Given the description of an element on the screen output the (x, y) to click on. 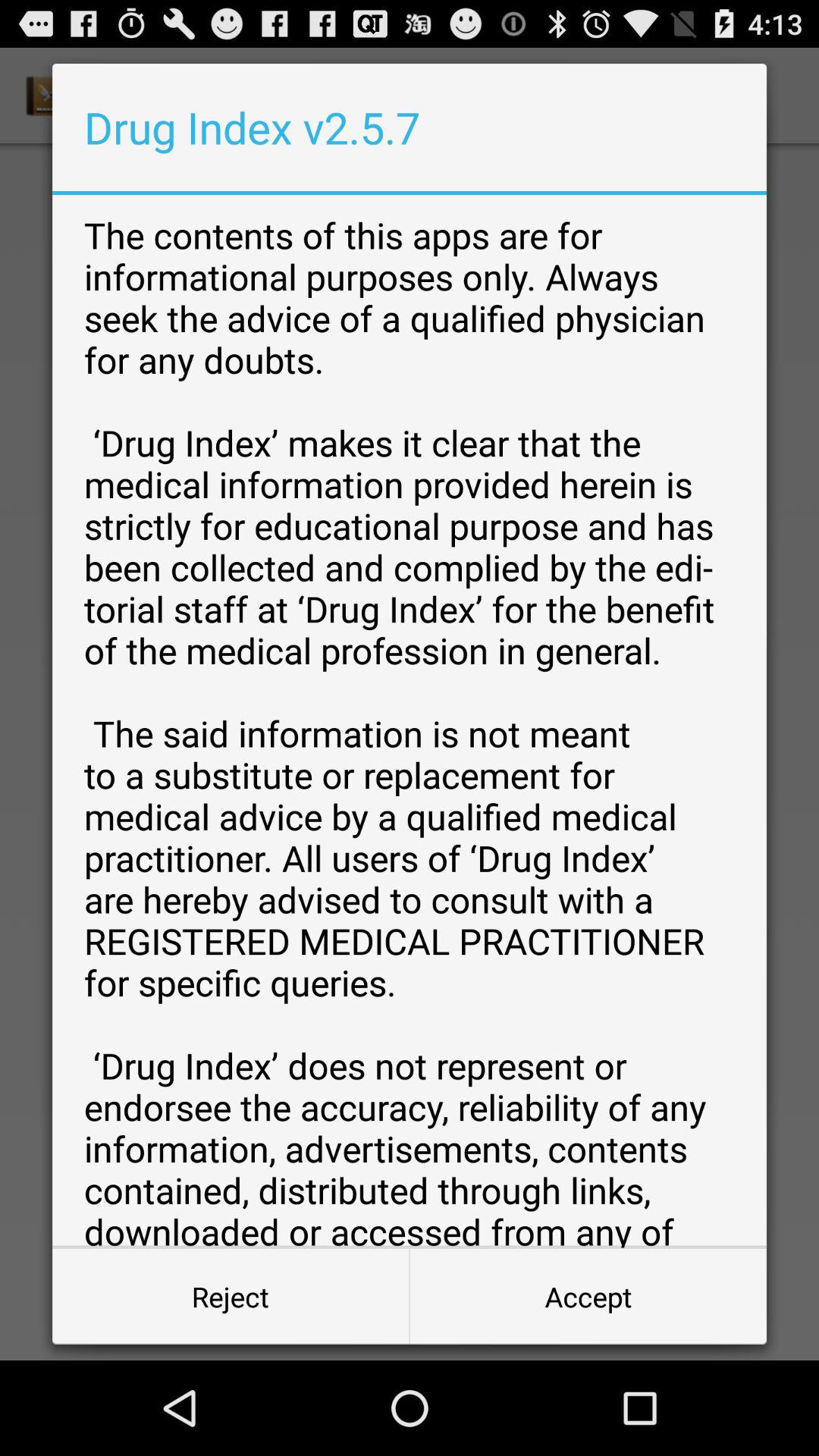
turn on the accept item (588, 1296)
